Given the description of an element on the screen output the (x, y) to click on. 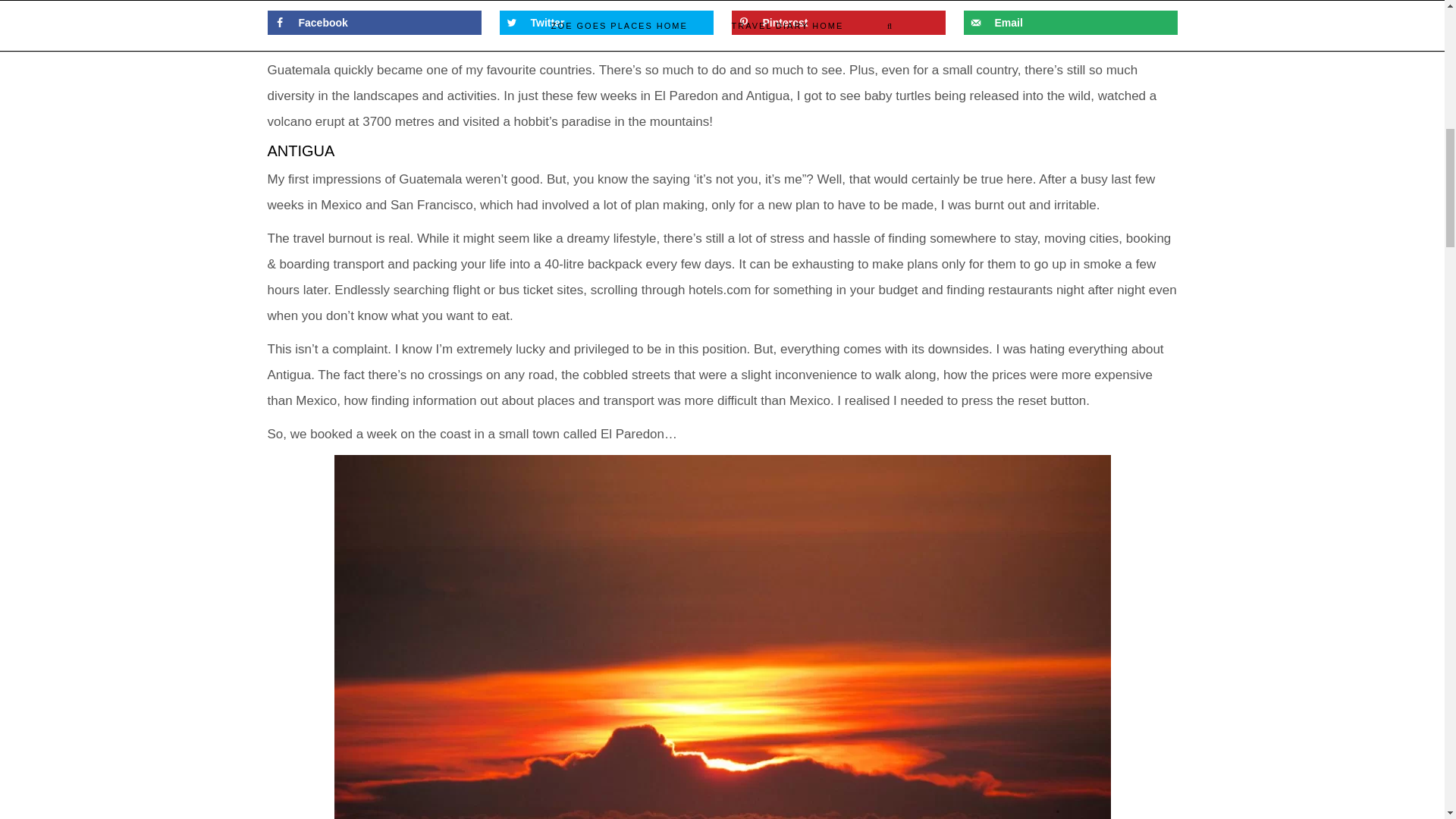
Twitter (606, 22)
Save to Pinterest (837, 22)
Email (1069, 22)
Facebook (373, 22)
Share on Twitter (606, 22)
Pinterest (837, 22)
Send over email (1069, 22)
Share on Facebook (373, 22)
